Given the description of an element on the screen output the (x, y) to click on. 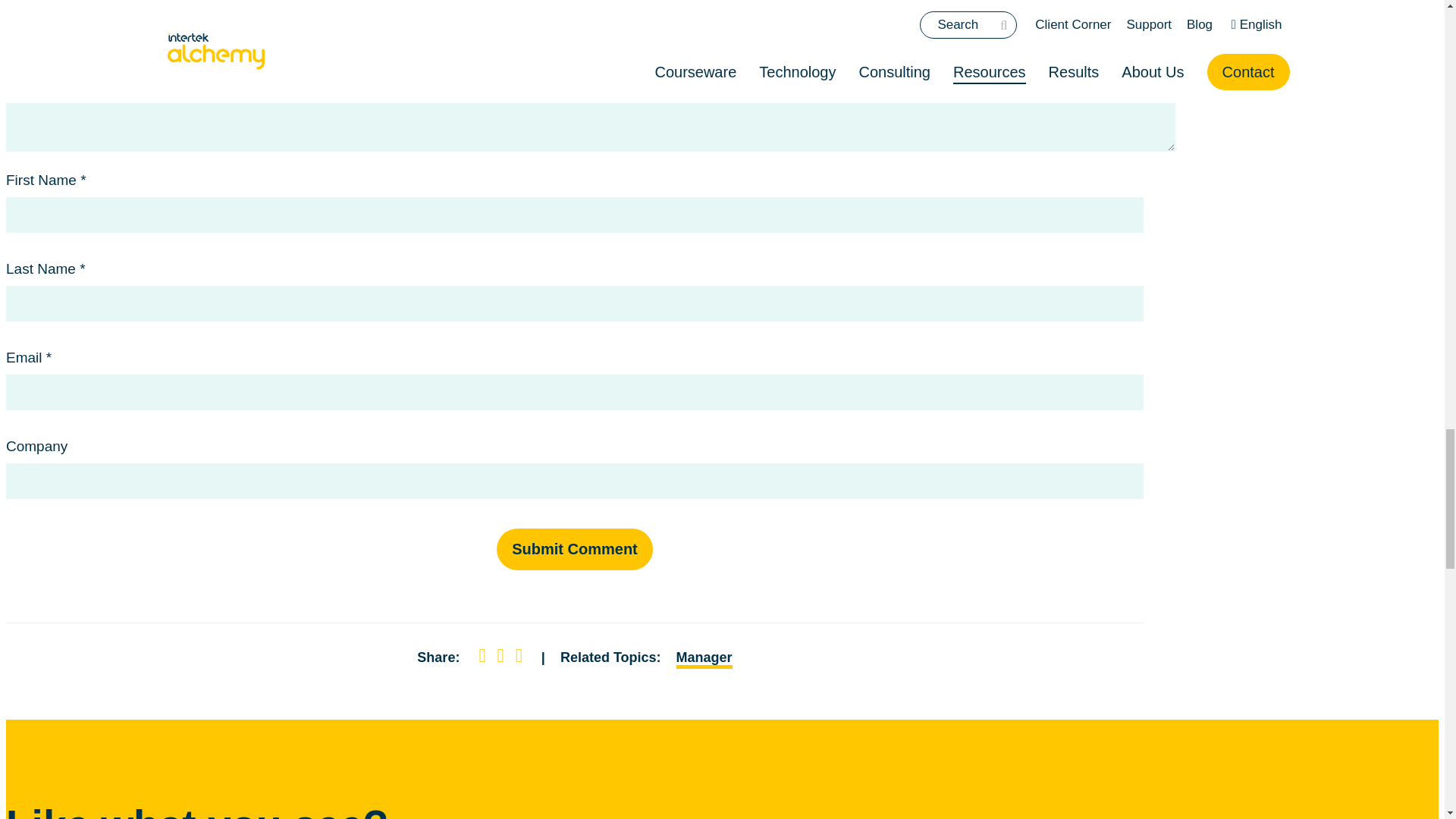
Submit Comment (574, 549)
